Given the description of an element on the screen output the (x, y) to click on. 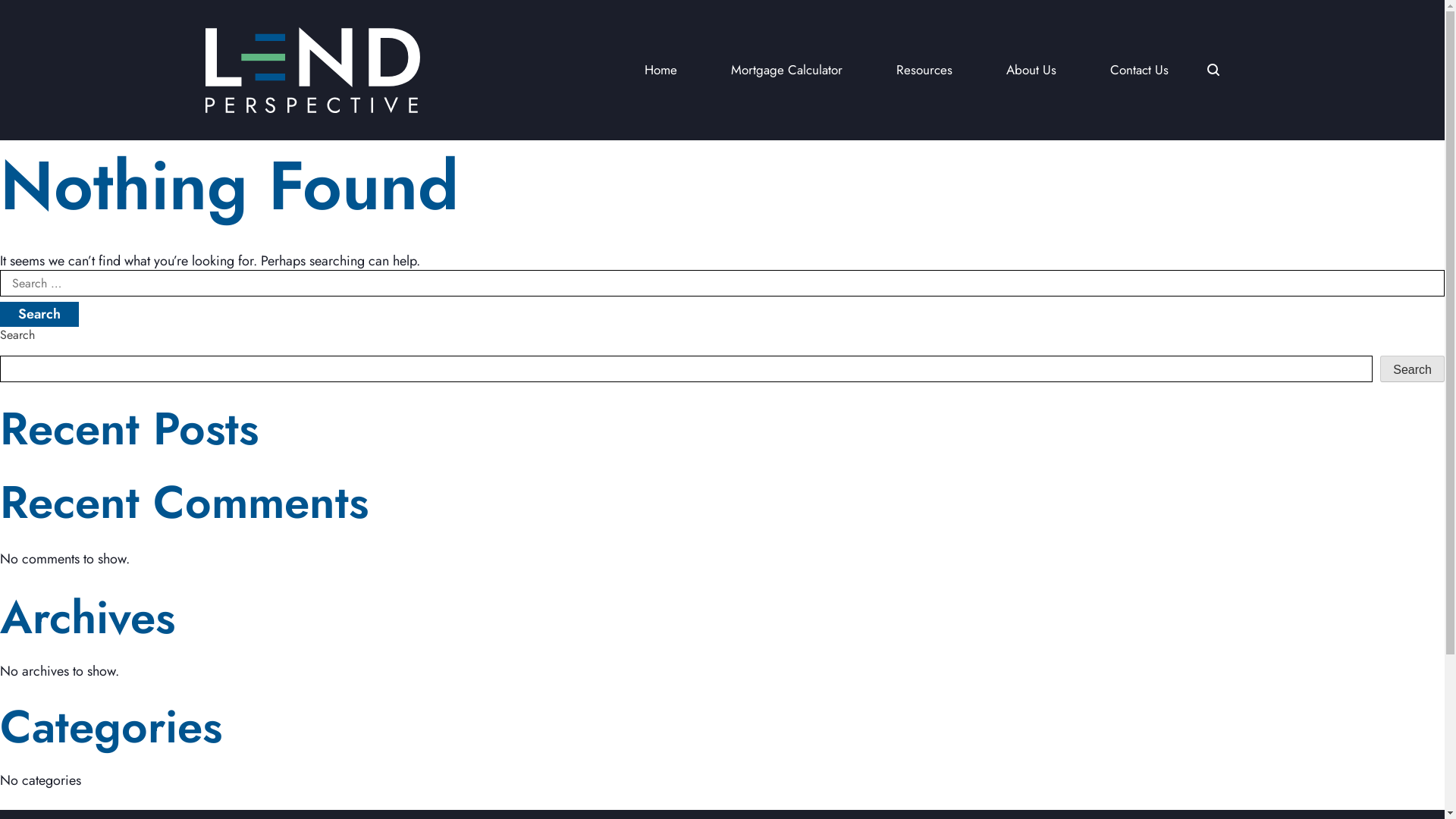
Contact Us Element type: text (1139, 69)
About Us Element type: text (1030, 69)
Resources Element type: text (924, 69)
Lend Perspective Element type: hover (311, 69)
Search Element type: hover (1213, 69)
Mortgage Calculator Element type: text (786, 69)
Search Element type: text (1412, 368)
Home Element type: text (660, 69)
Search Element type: text (39, 313)
